Given the description of an element on the screen output the (x, y) to click on. 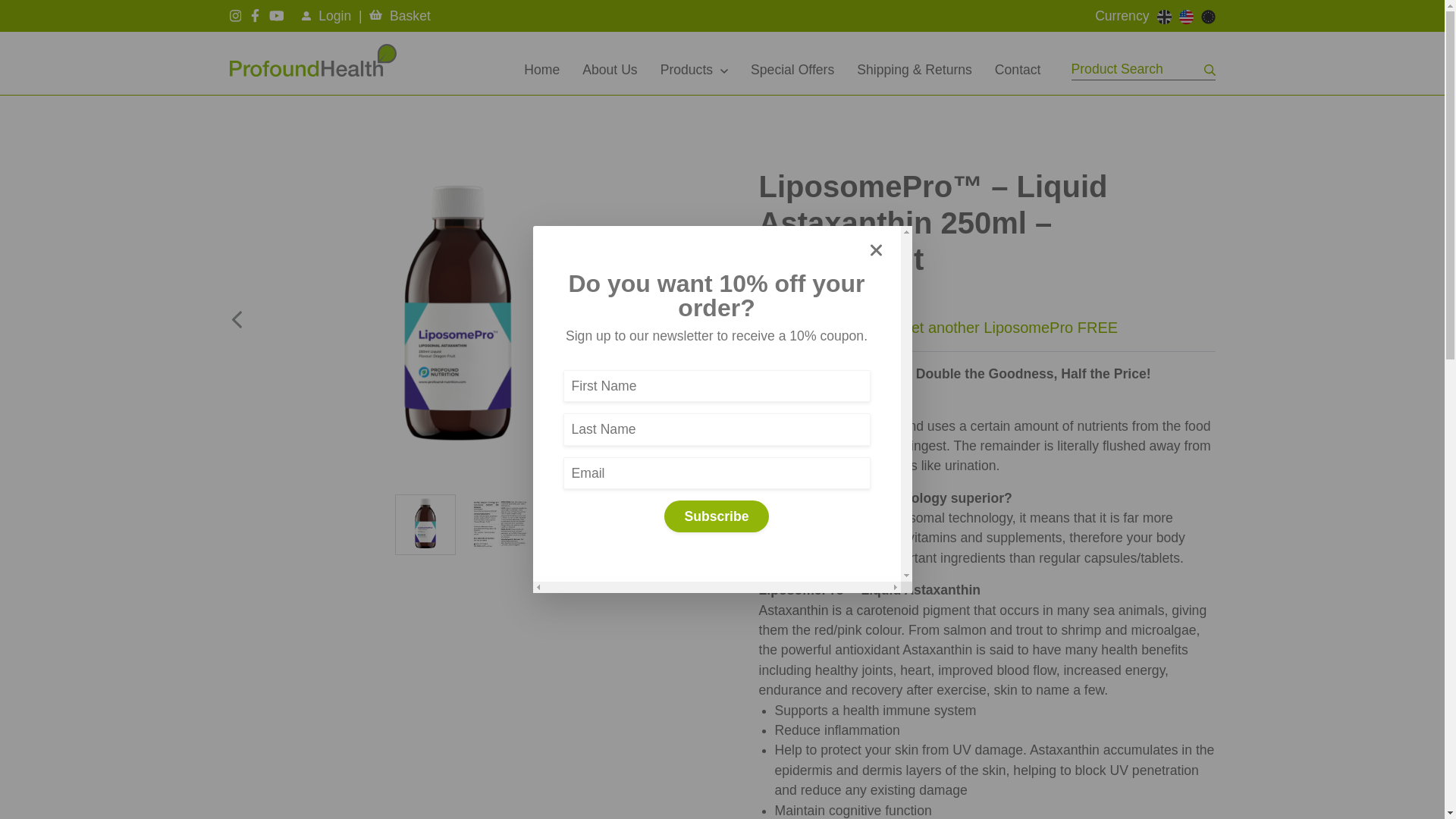
  Login (325, 15)
Special Offers (792, 69)
Contact (1018, 69)
Home (541, 69)
  Basket (399, 15)
Products (694, 69)
Subscribe (715, 516)
About Us (608, 69)
